Given the description of an element on the screen output the (x, y) to click on. 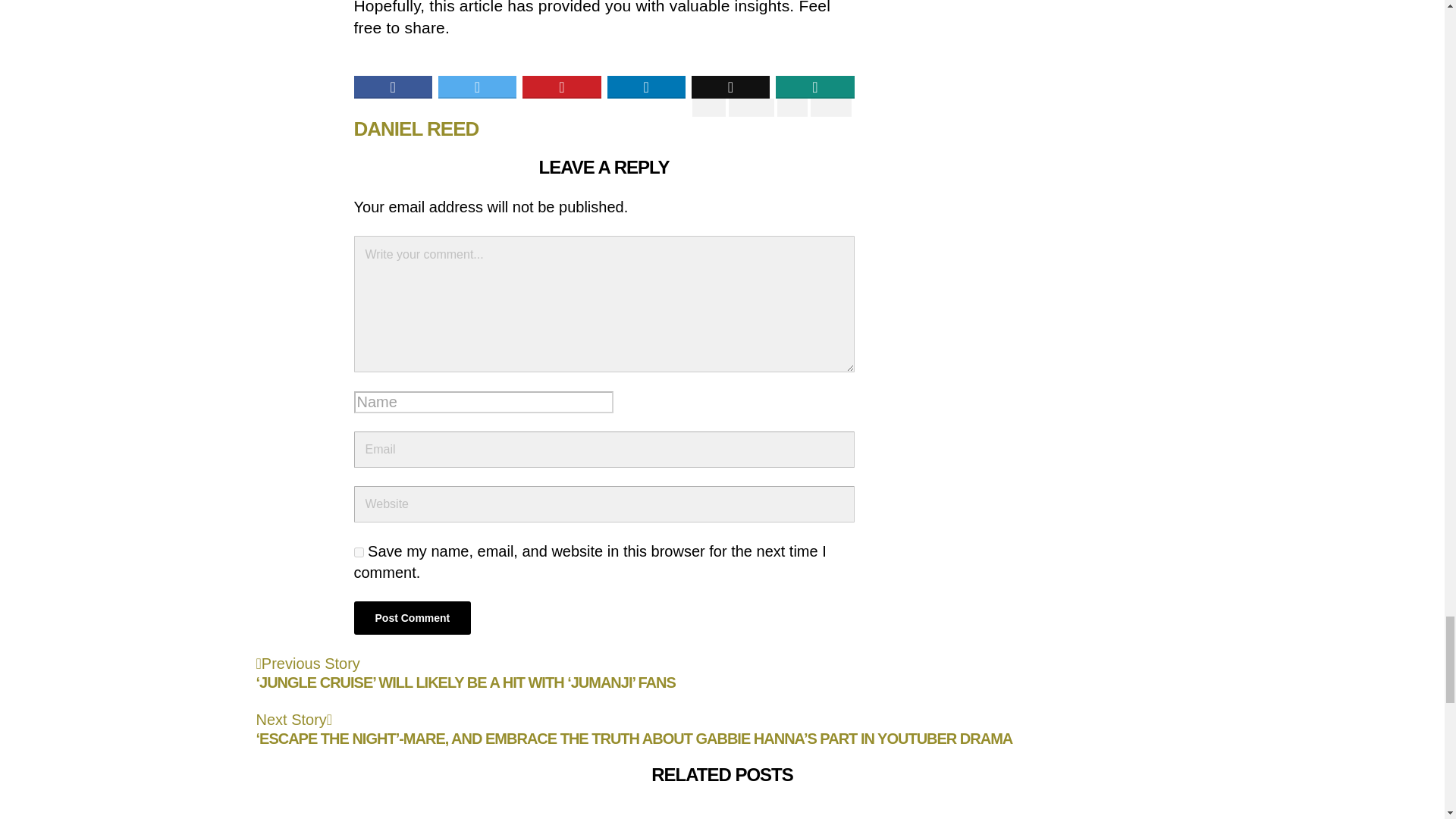
Post Comment (411, 617)
yes (357, 552)
